Given the description of an element on the screen output the (x, y) to click on. 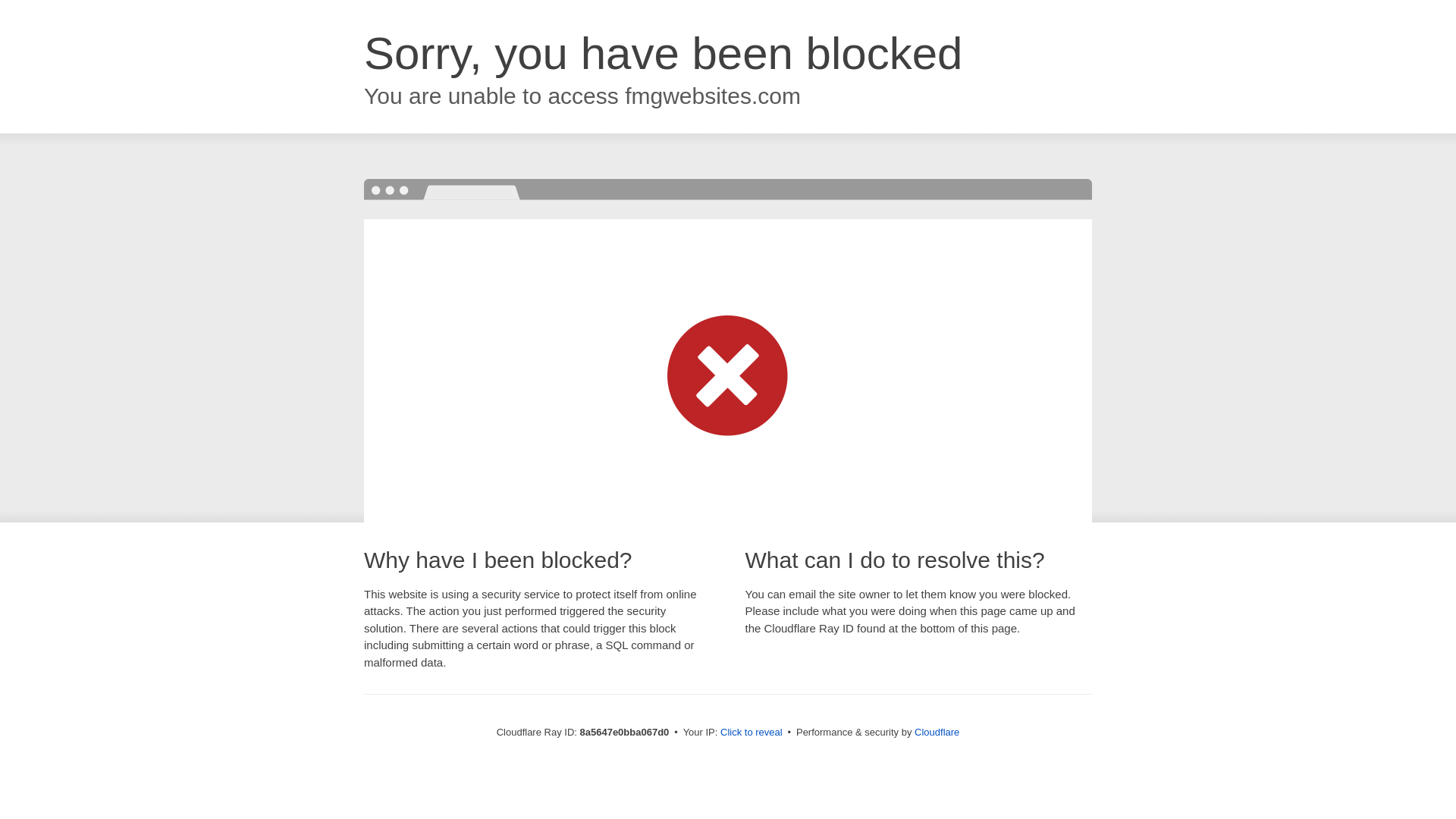
Click to reveal (751, 732)
Cloudflare (936, 731)
